Given the description of an element on the screen output the (x, y) to click on. 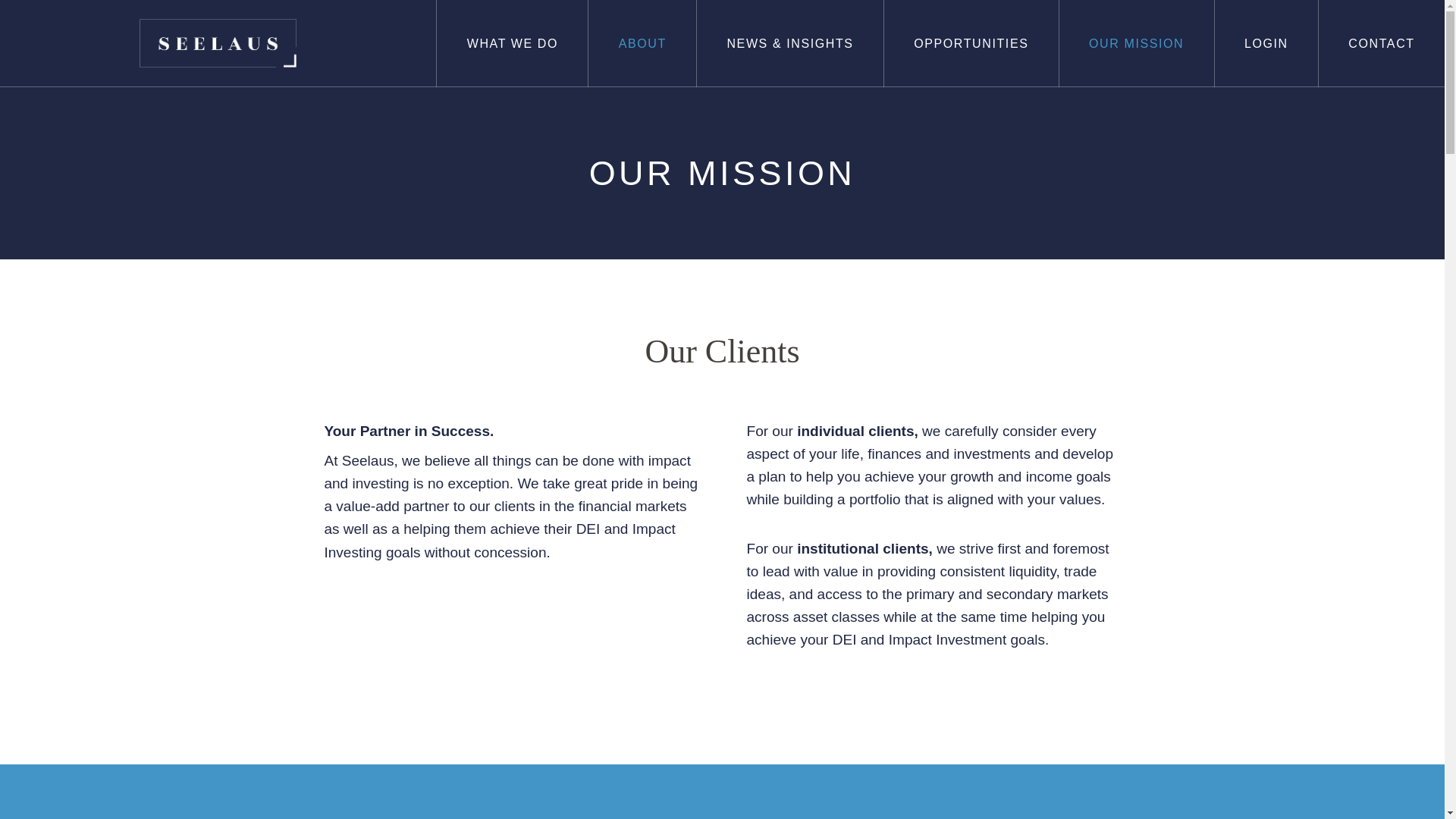
ABOUT (641, 43)
Seelaus (218, 43)
OUR MISSION (1136, 43)
LOGIN (1265, 43)
OPPORTUNITIES (970, 43)
WHAT WE DO (512, 43)
